Given the description of an element on the screen output the (x, y) to click on. 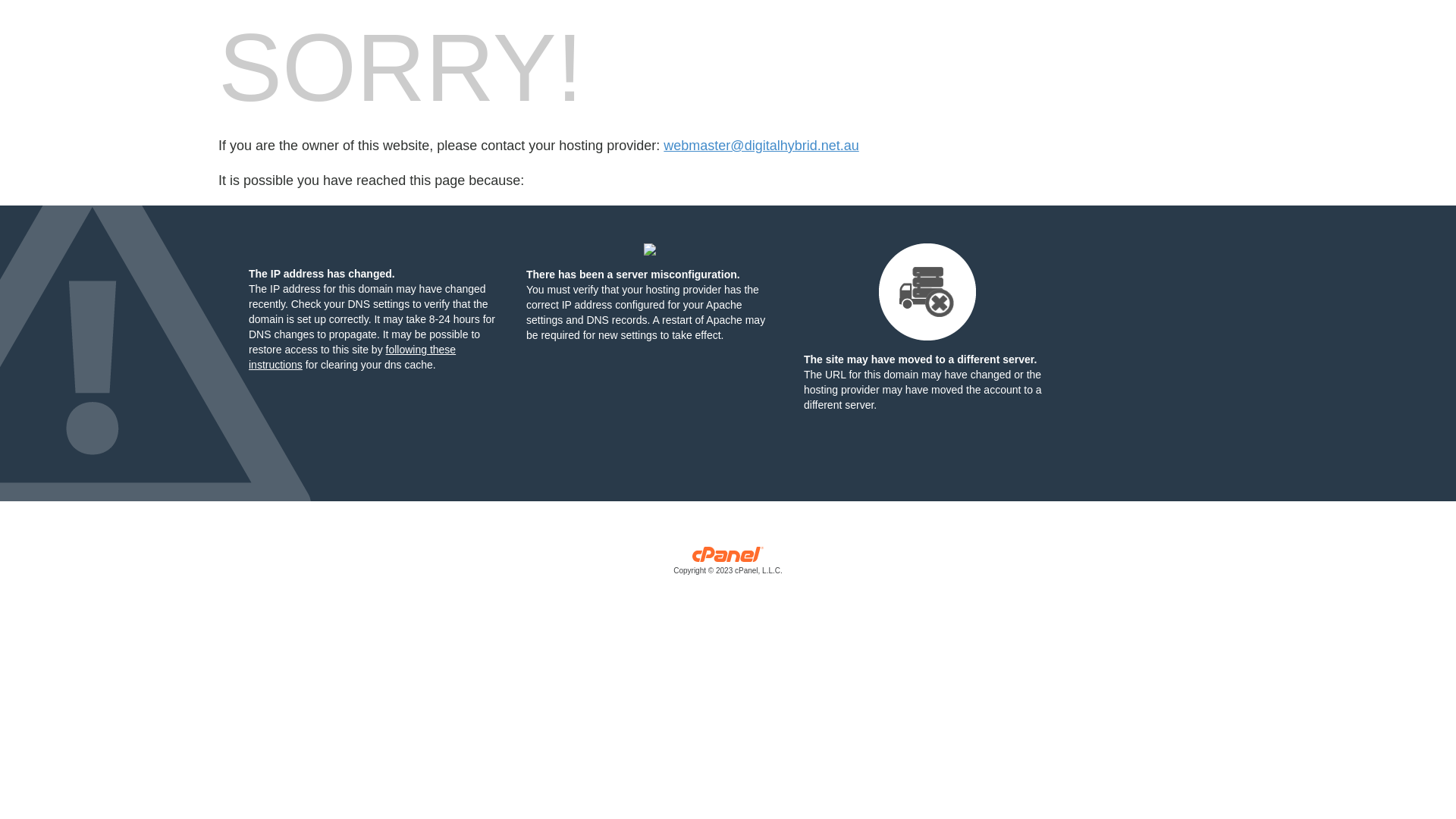
following these instructions Element type: text (351, 356)
webmaster@digitalhybrid.net.au Element type: text (760, 145)
